Given the description of an element on the screen output the (x, y) to click on. 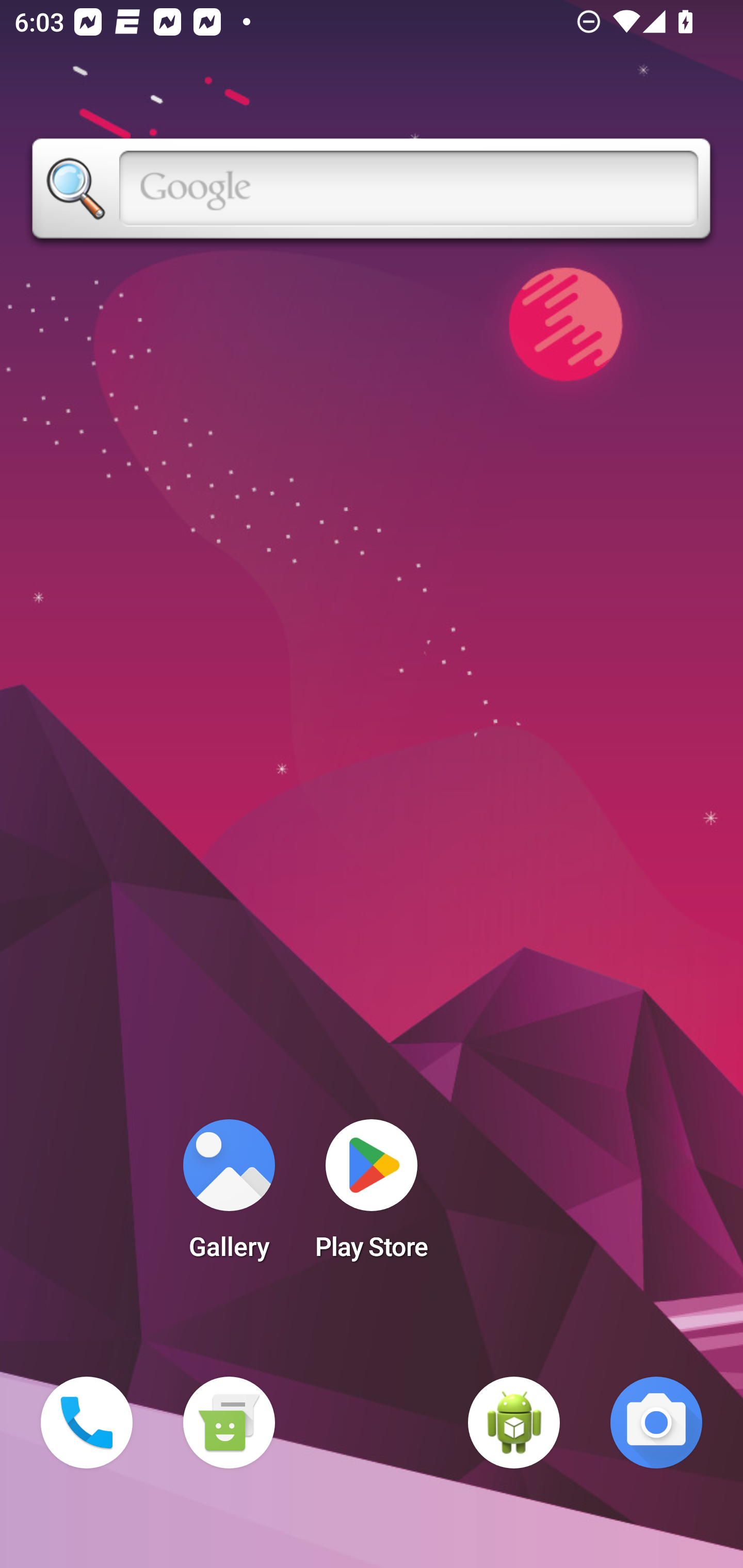
Gallery (228, 1195)
Play Store (371, 1195)
Phone (86, 1422)
Messaging (228, 1422)
WebView Browser Tester (513, 1422)
Camera (656, 1422)
